Given the description of an element on the screen output the (x, y) to click on. 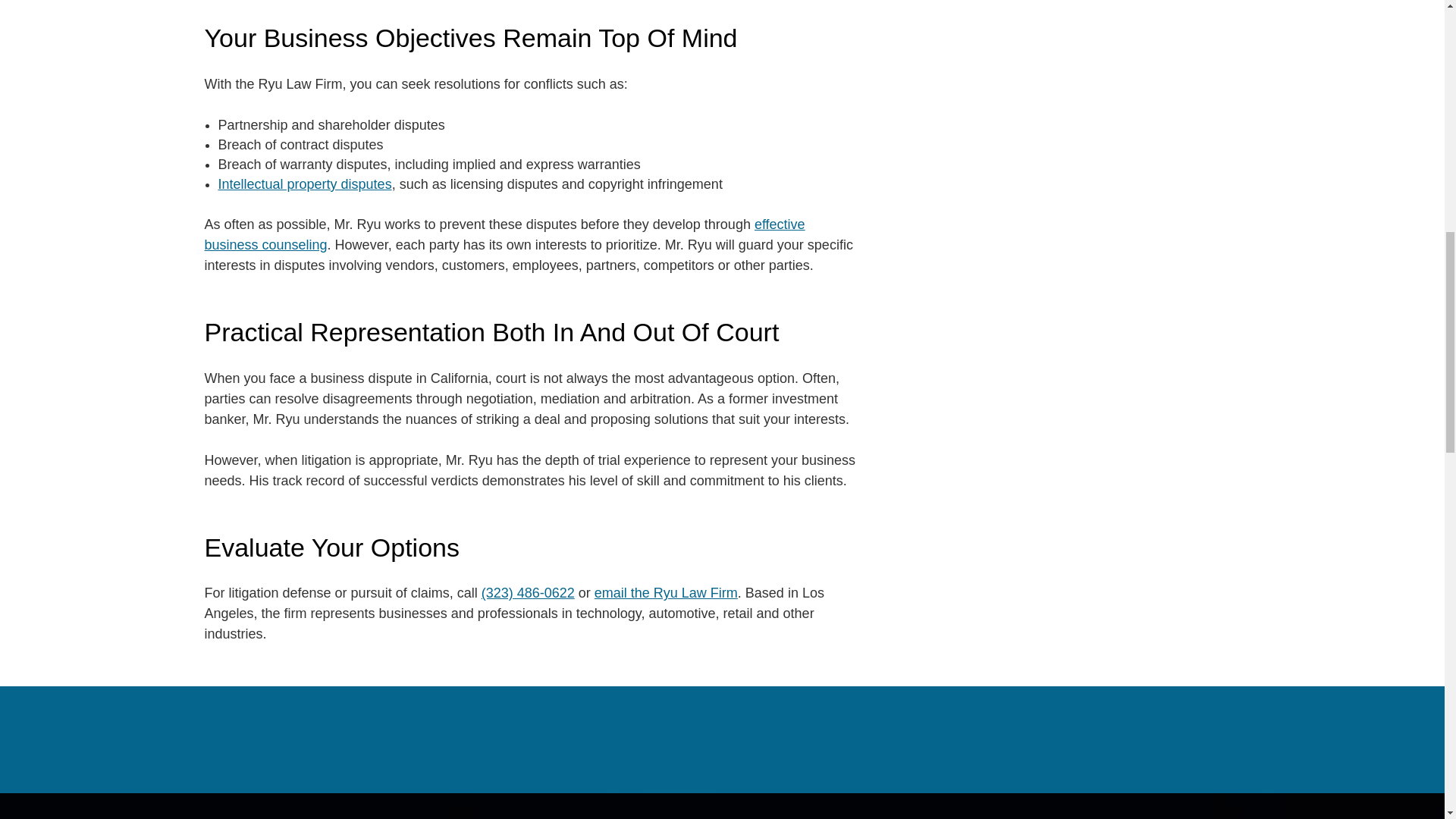
Intellectual property disputes (304, 183)
email the Ryu Law Firm (666, 592)
effective business counseling (505, 234)
